Given the description of an element on the screen output the (x, y) to click on. 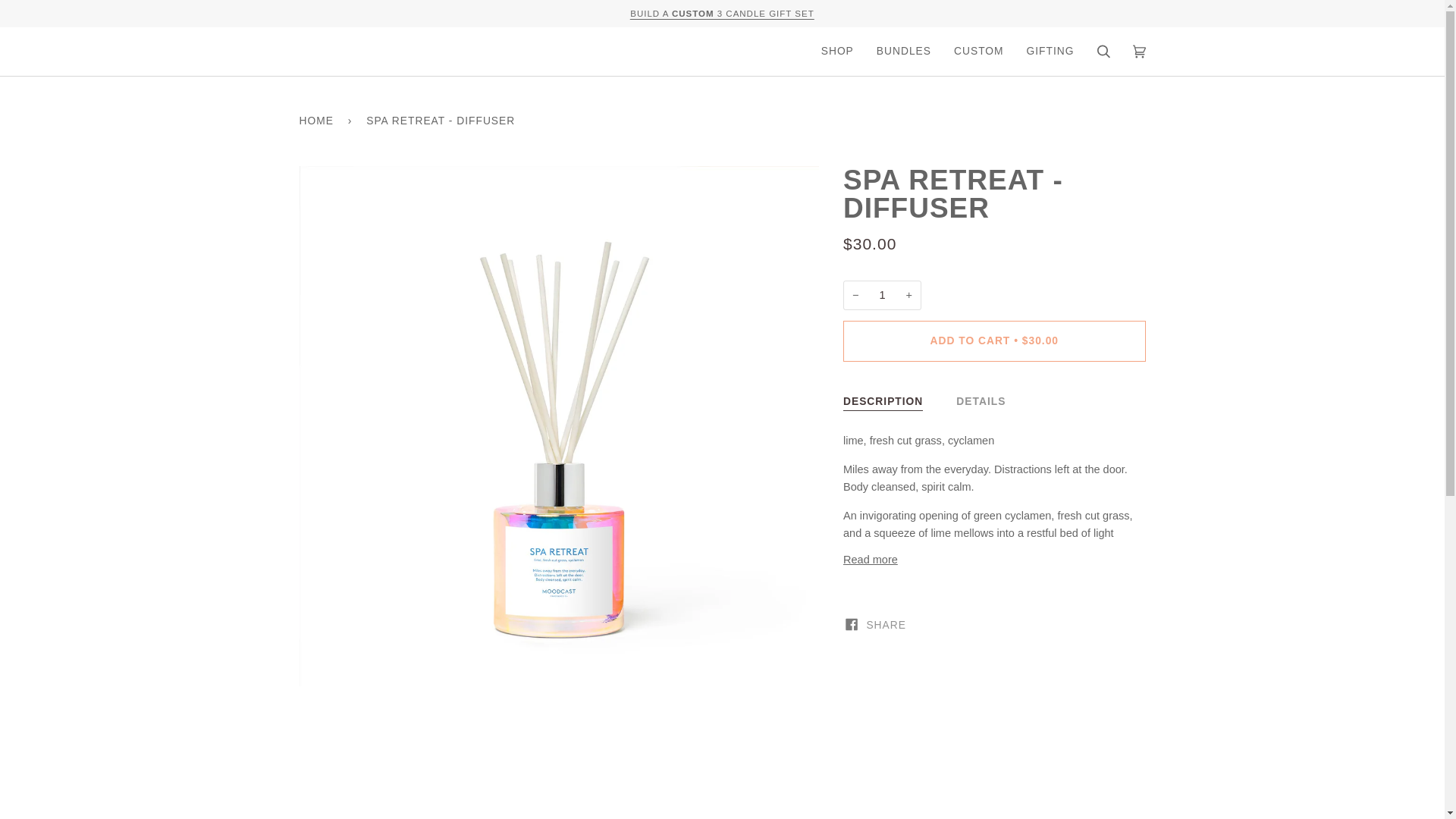
Back to the frontpage (317, 120)
SHOP (836, 51)
BUILD A CUSTOM 3 CANDLE GIFT SET (721, 13)
1 (882, 295)
